Given the description of an element on the screen output the (x, y) to click on. 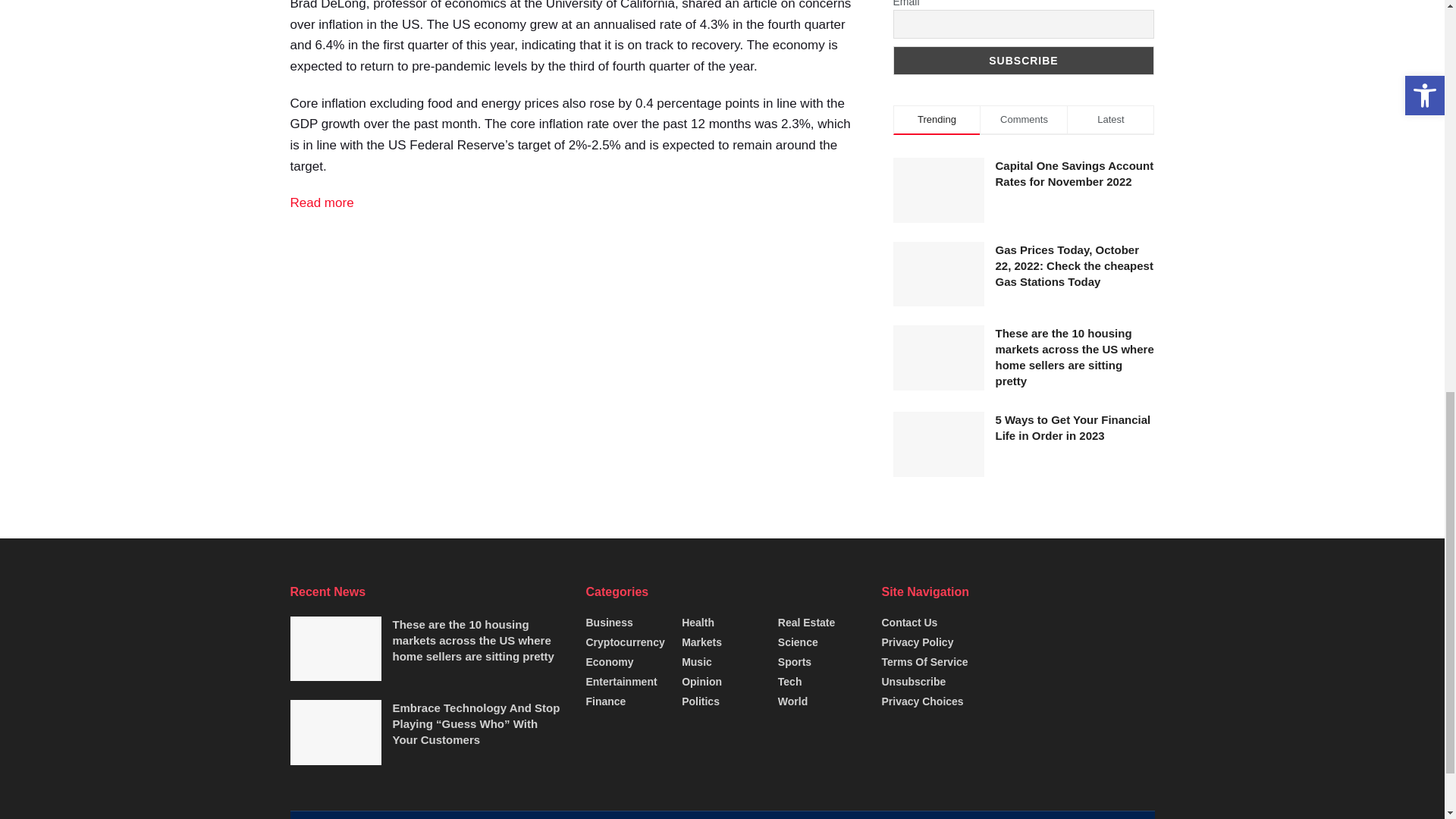
Subscribe (1023, 60)
